Given the description of an element on the screen output the (x, y) to click on. 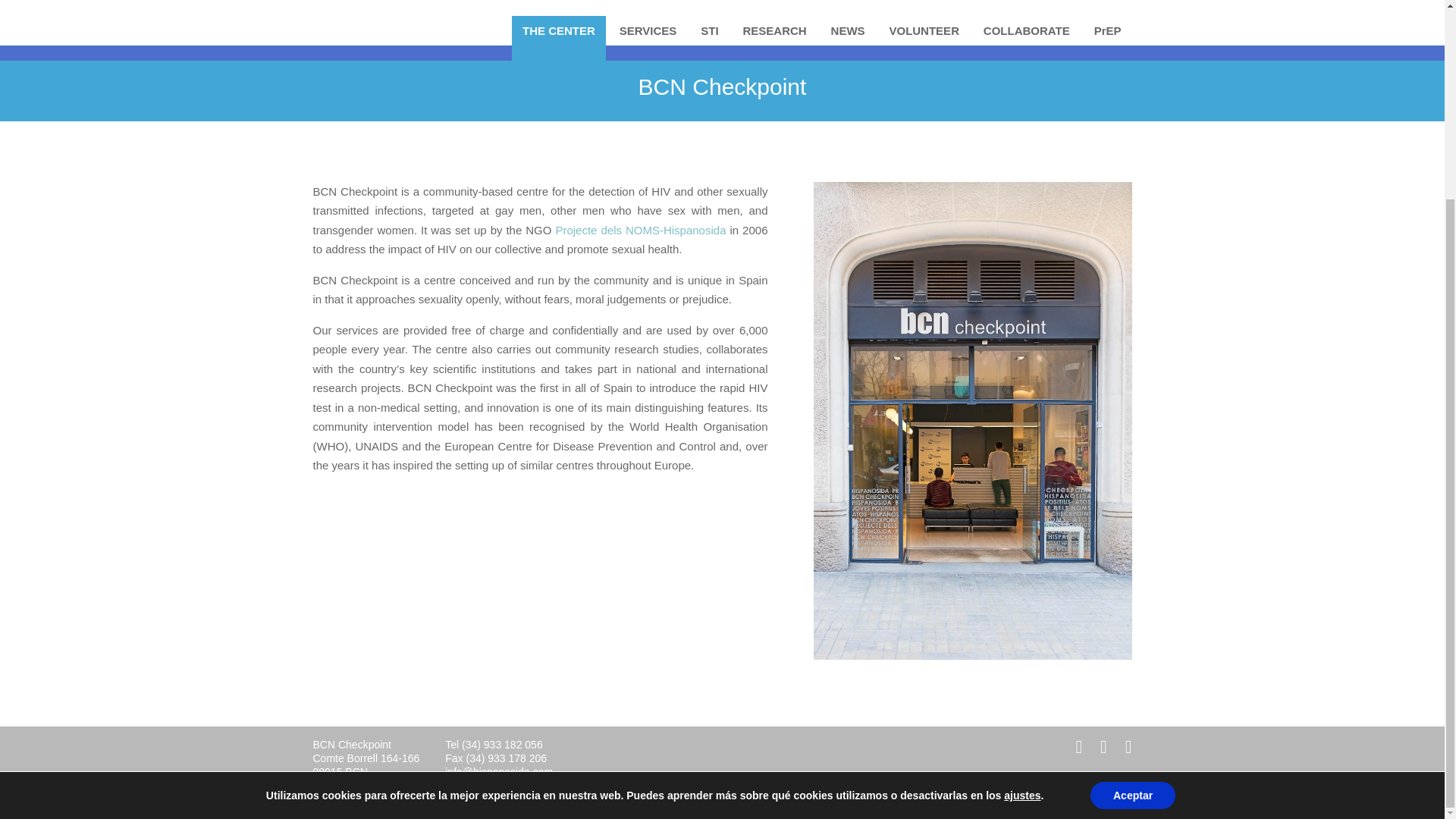
NEWS (848, 30)
VOLUNTEER (923, 30)
COLLABORATE (1026, 30)
THE CENTER (558, 37)
STI (709, 30)
SERVICES (647, 30)
RESEARCH (774, 30)
